Given the description of an element on the screen output the (x, y) to click on. 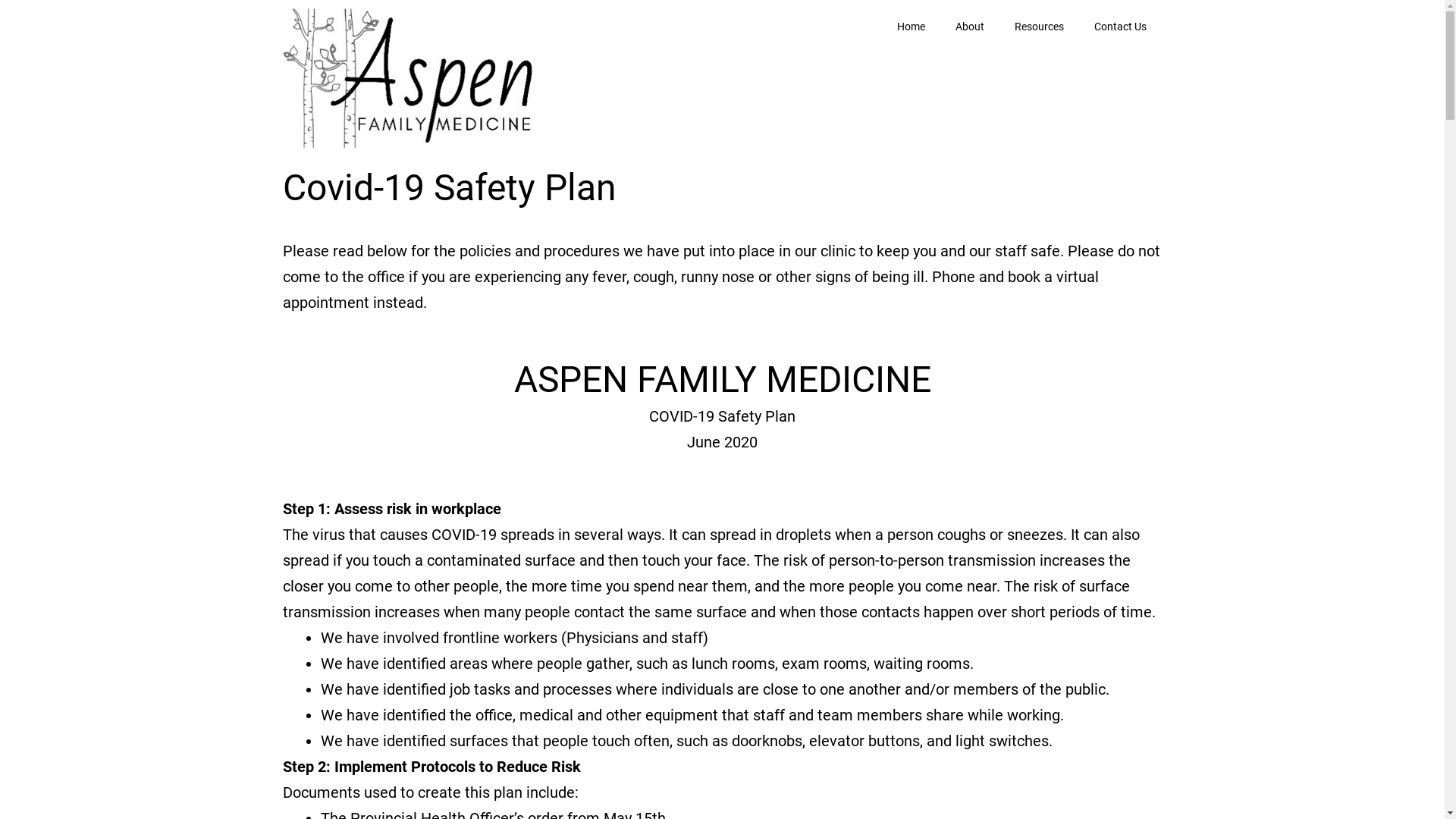
Contact Us Element type: text (1120, 26)
Resources Element type: text (1039, 26)
Home Element type: text (910, 26)
About Element type: text (969, 26)
